Given the description of an element on the screen output the (x, y) to click on. 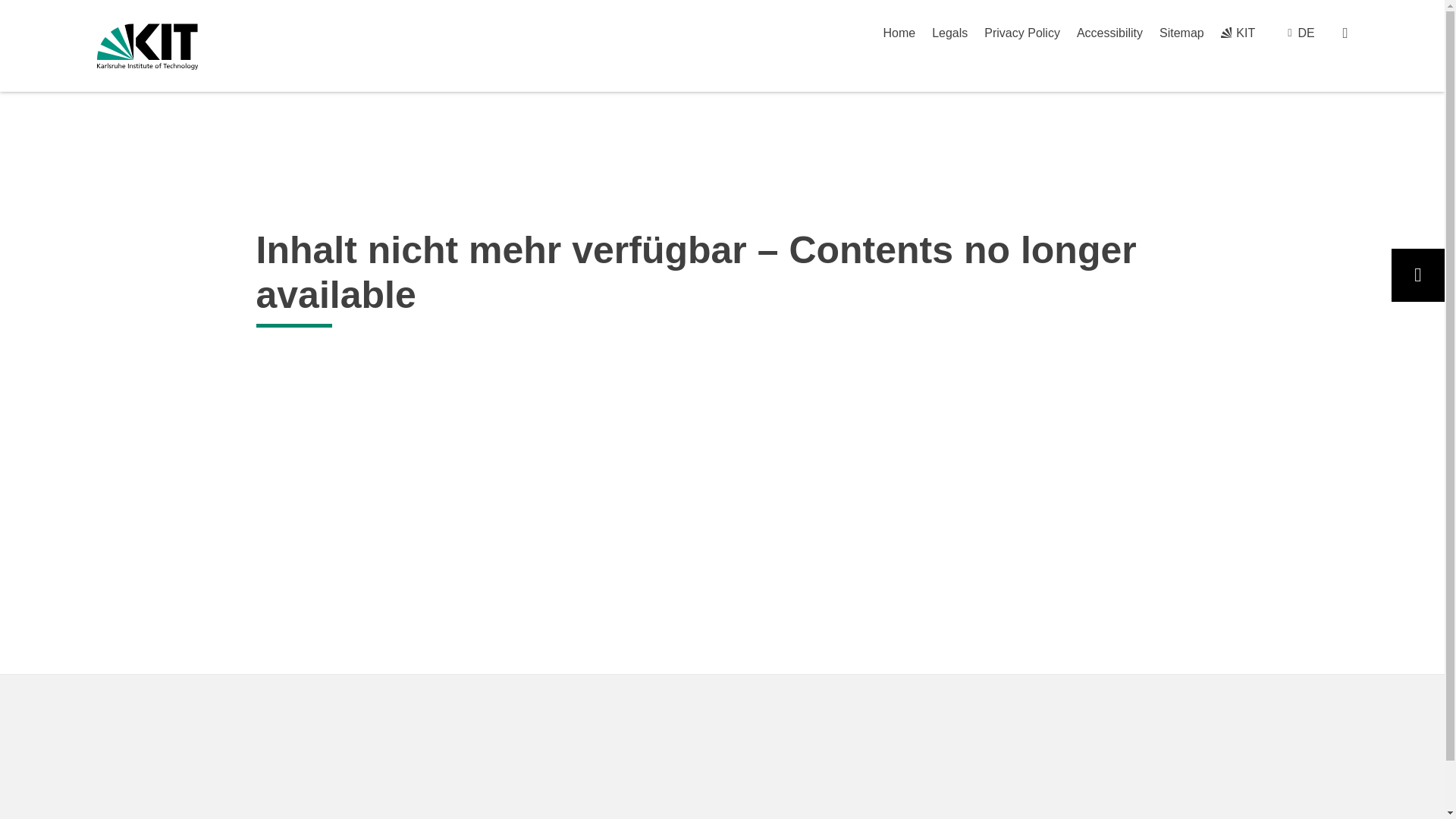
Privacy Policy (1021, 32)
Legals (949, 32)
KIT (1238, 32)
Sitemap (1181, 32)
KIT-Homepage (147, 46)
startpage (898, 32)
KIT-Homepage (1238, 32)
Accessibility (1109, 32)
DE (1305, 32)
